Given the description of an element on the screen output the (x, y) to click on. 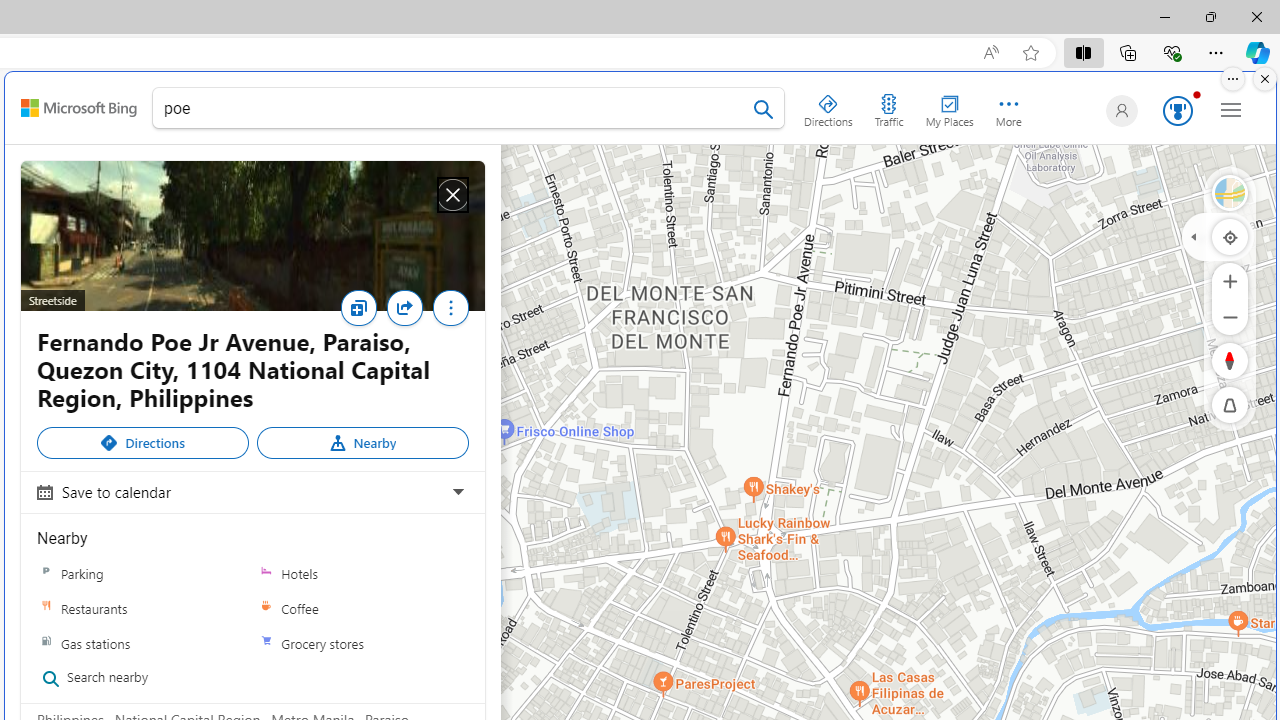
Settings and quick links (1231, 109)
Hotels (362, 573)
